Given the description of an element on the screen output the (x, y) to click on. 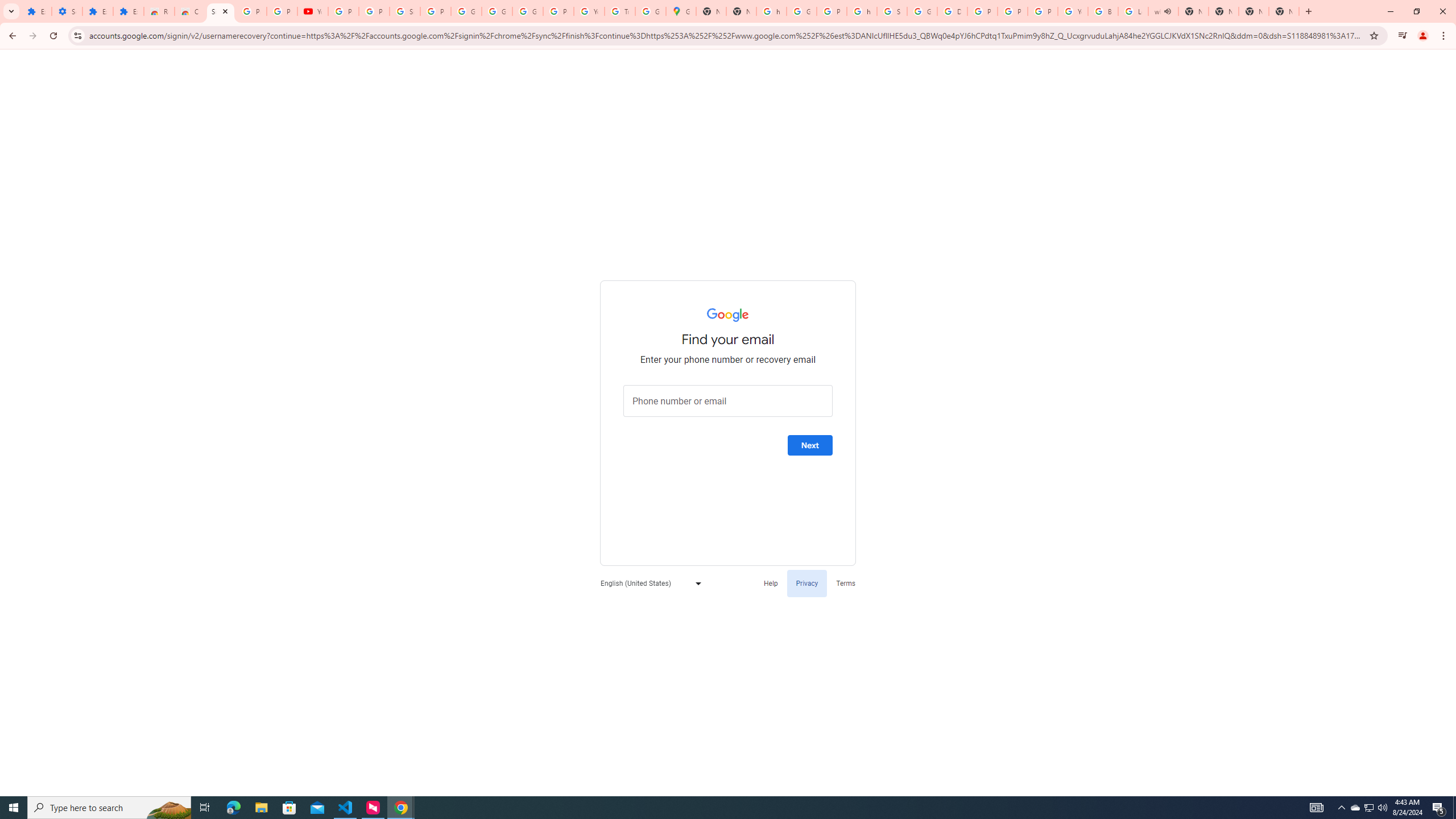
Sign in - Google Accounts (404, 11)
